Given the description of an element on the screen output the (x, y) to click on. 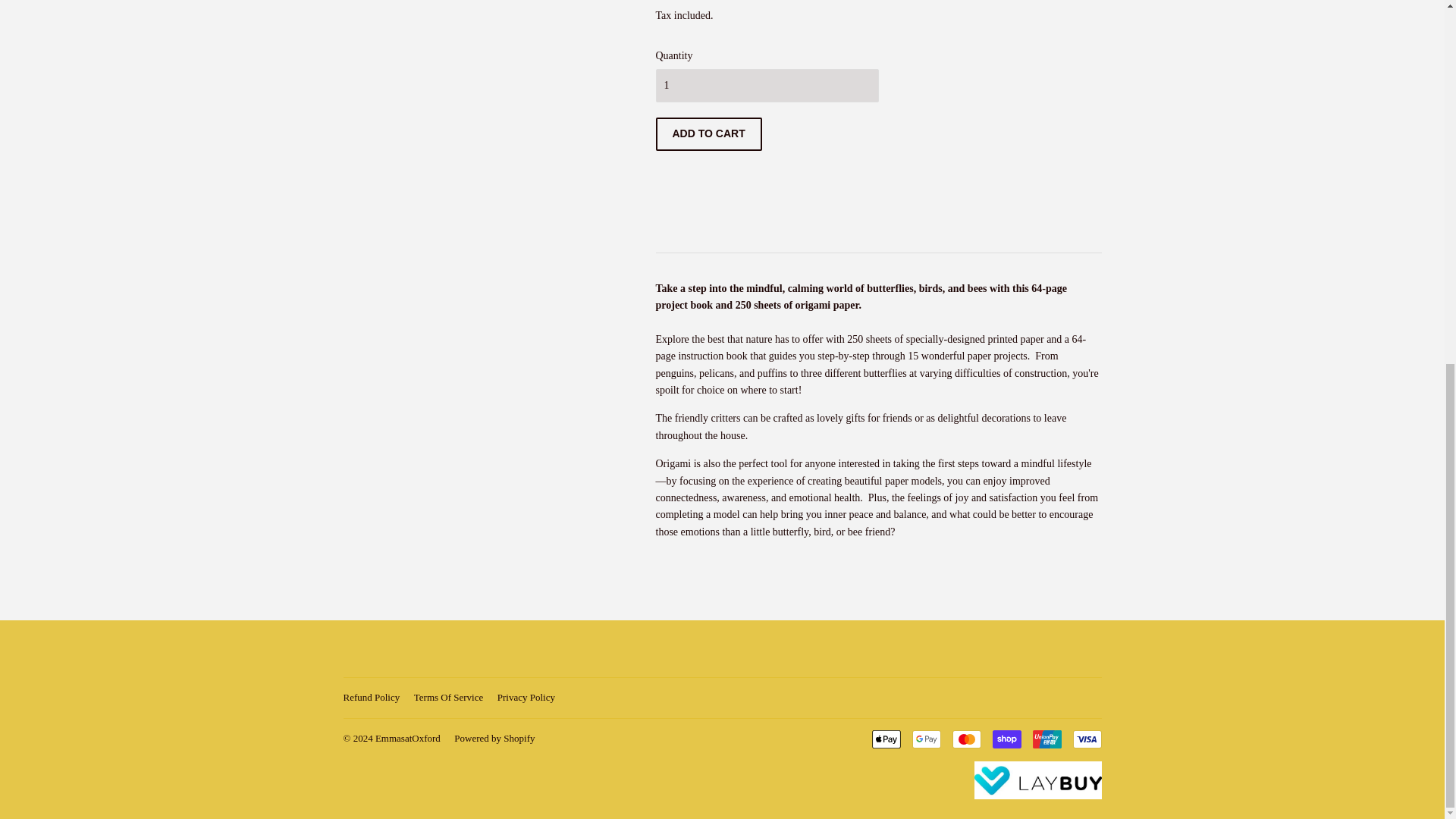
Apple Pay (886, 739)
Mastercard (966, 739)
Shop Pay (1005, 739)
Google Pay (925, 739)
1 (766, 85)
Union Pay (1046, 739)
Visa (1085, 739)
